Given the description of an element on the screen output the (x, y) to click on. 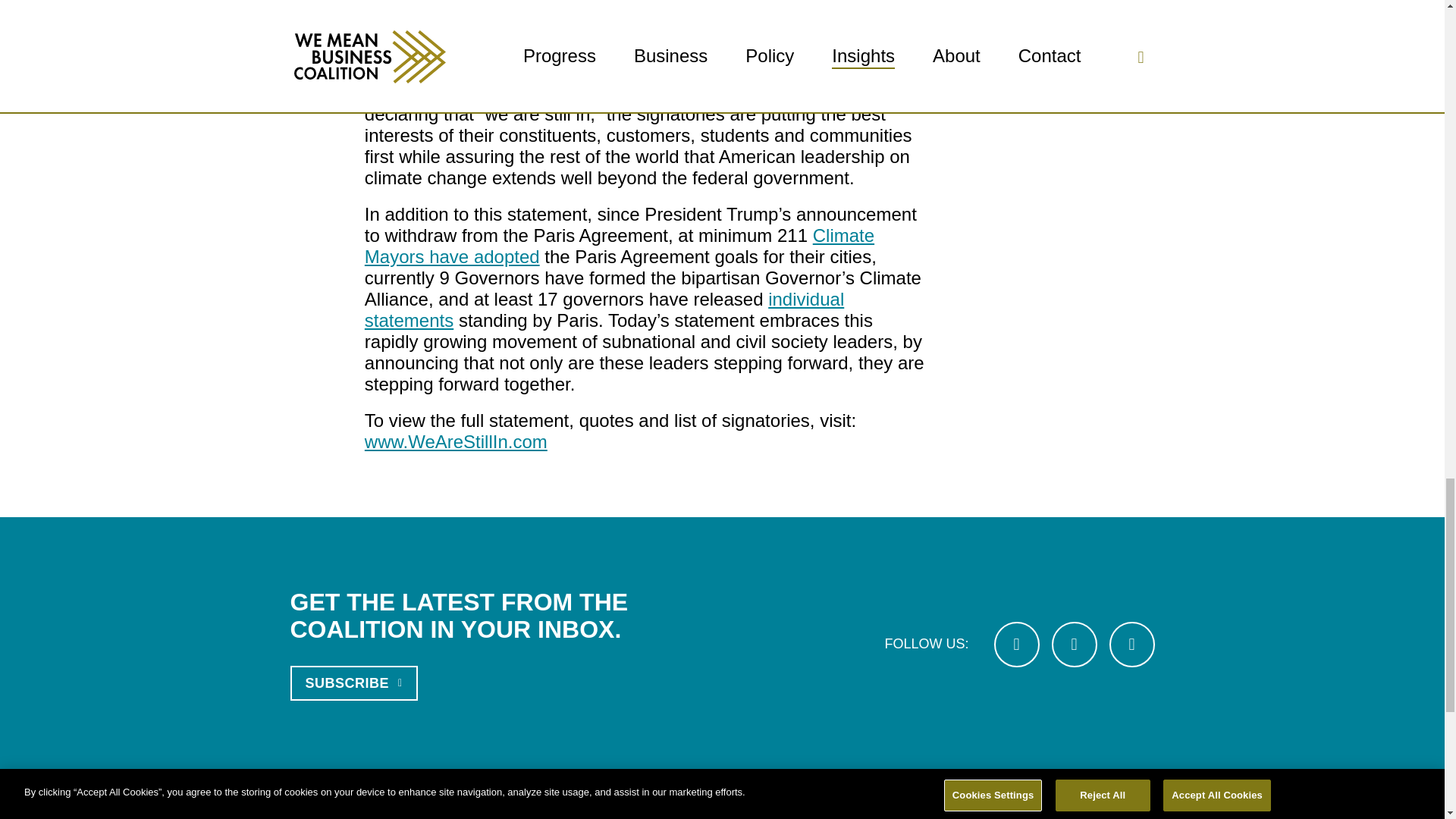
Climate Mayors have adopted (620, 245)
www.WeAreStillIn.com (456, 441)
individual statements (604, 309)
SUBSCRIBE (352, 683)
